Given the description of an element on the screen output the (x, y) to click on. 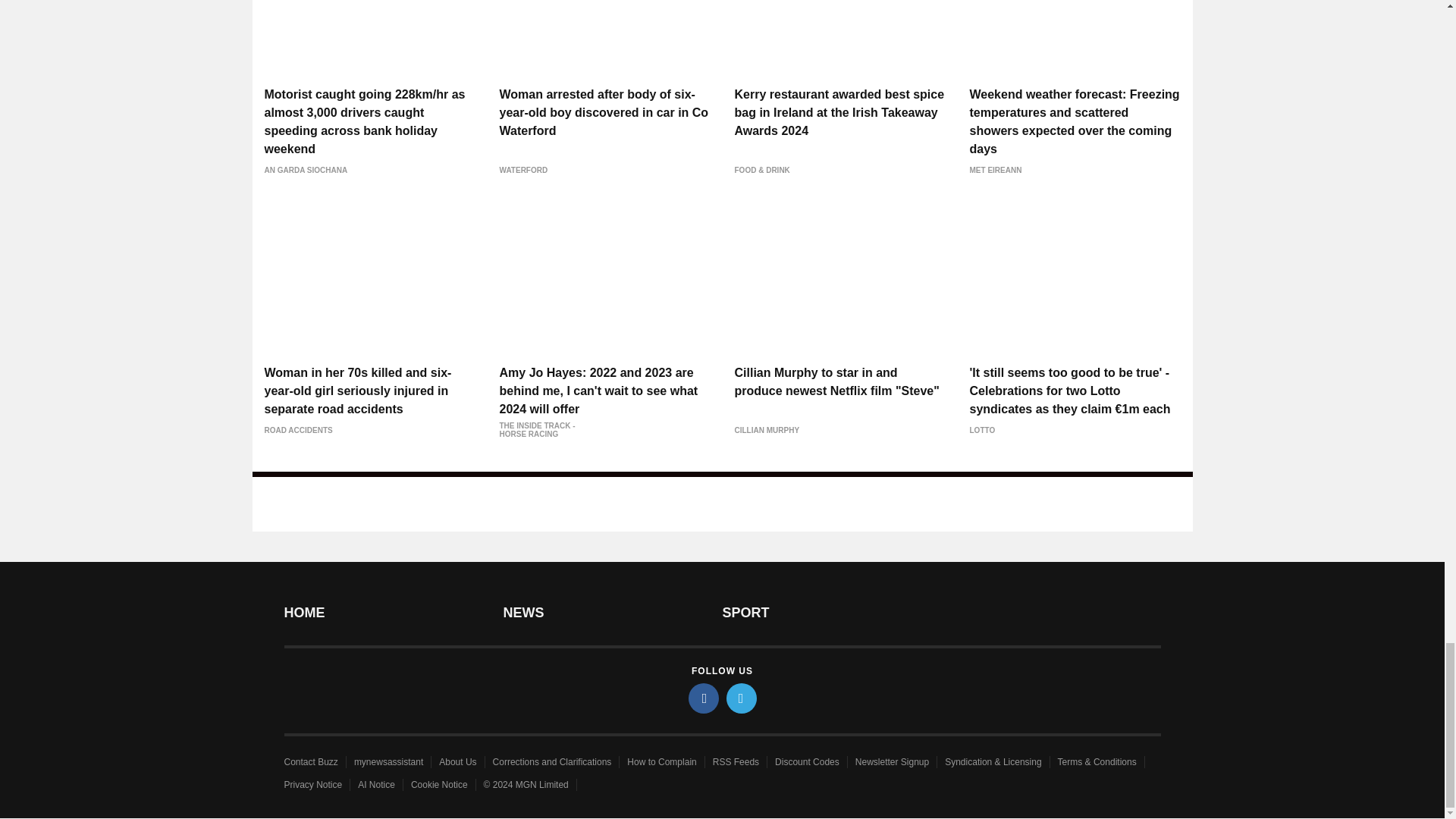
facebook (703, 698)
twitter (741, 698)
